Given the description of an element on the screen output the (x, y) to click on. 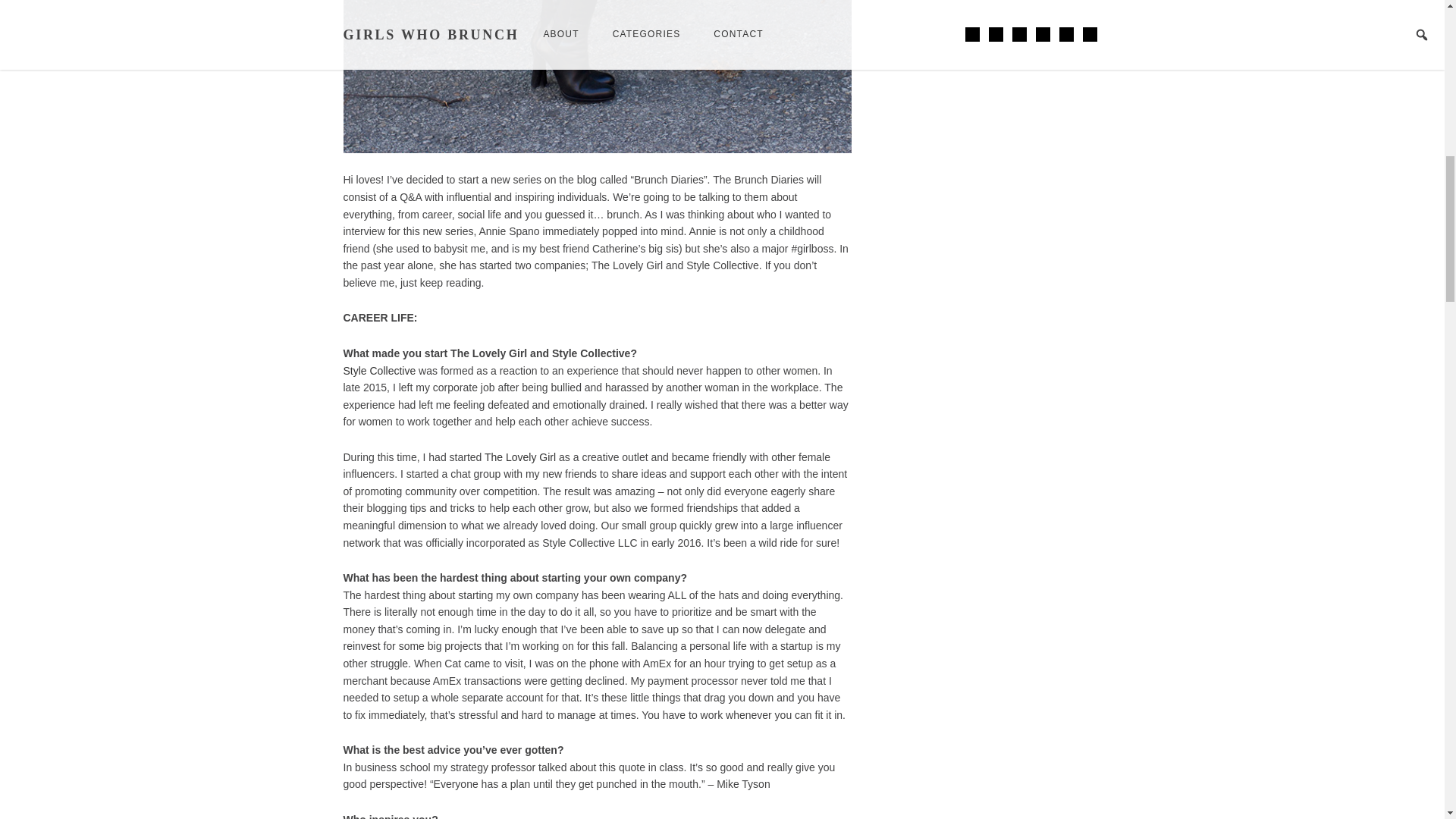
Style Collective (378, 370)
The Lovely Girl (520, 457)
